Given the description of an element on the screen output the (x, y) to click on. 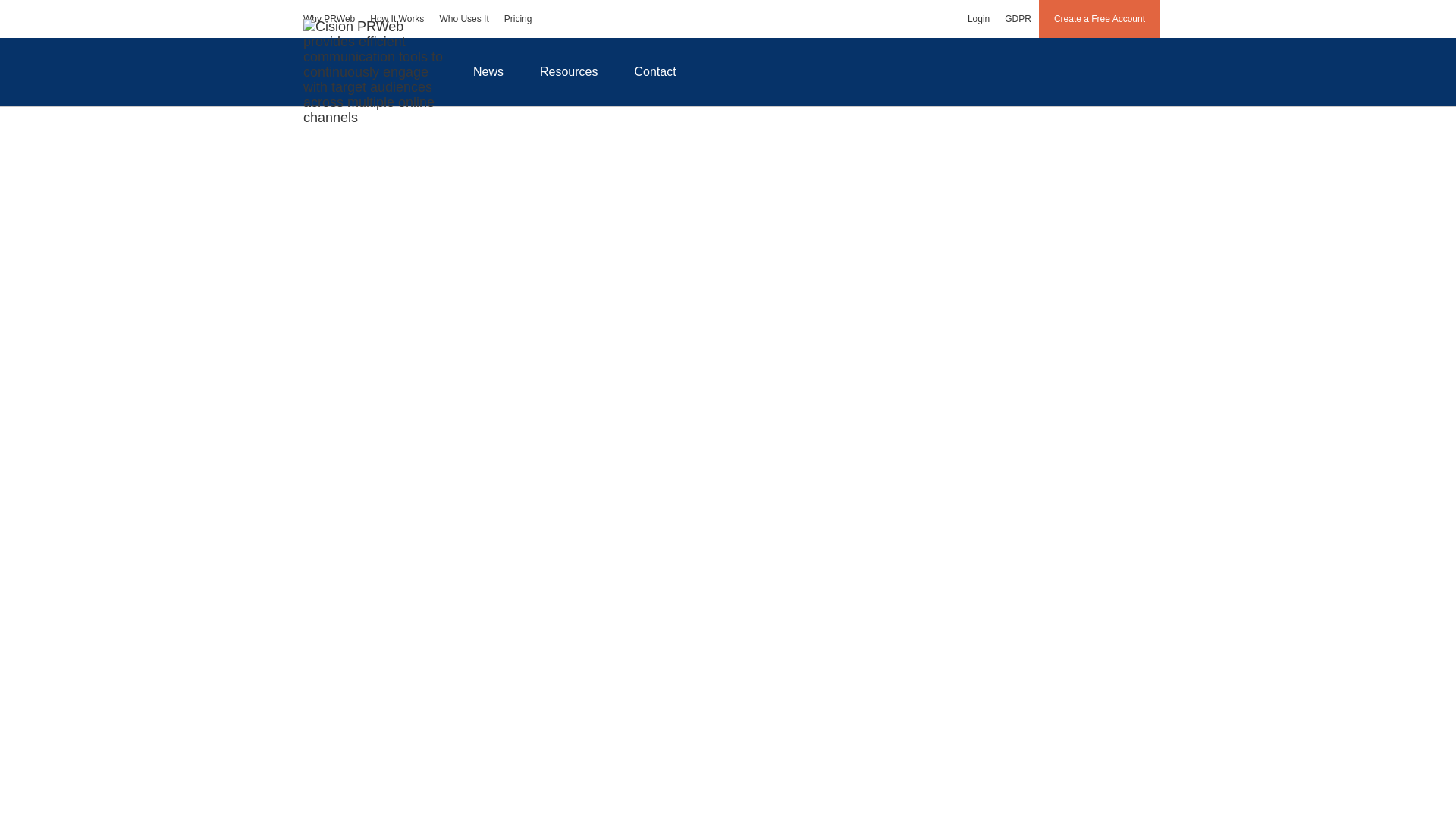
Pricing (518, 18)
Login (978, 18)
Why PRWeb (328, 18)
GDPR (1018, 18)
Resources (568, 71)
Create a Free Account (1099, 18)
Who Uses It (463, 18)
News (487, 71)
Contact (654, 71)
How It Works (396, 18)
